Given the description of an element on the screen output the (x, y) to click on. 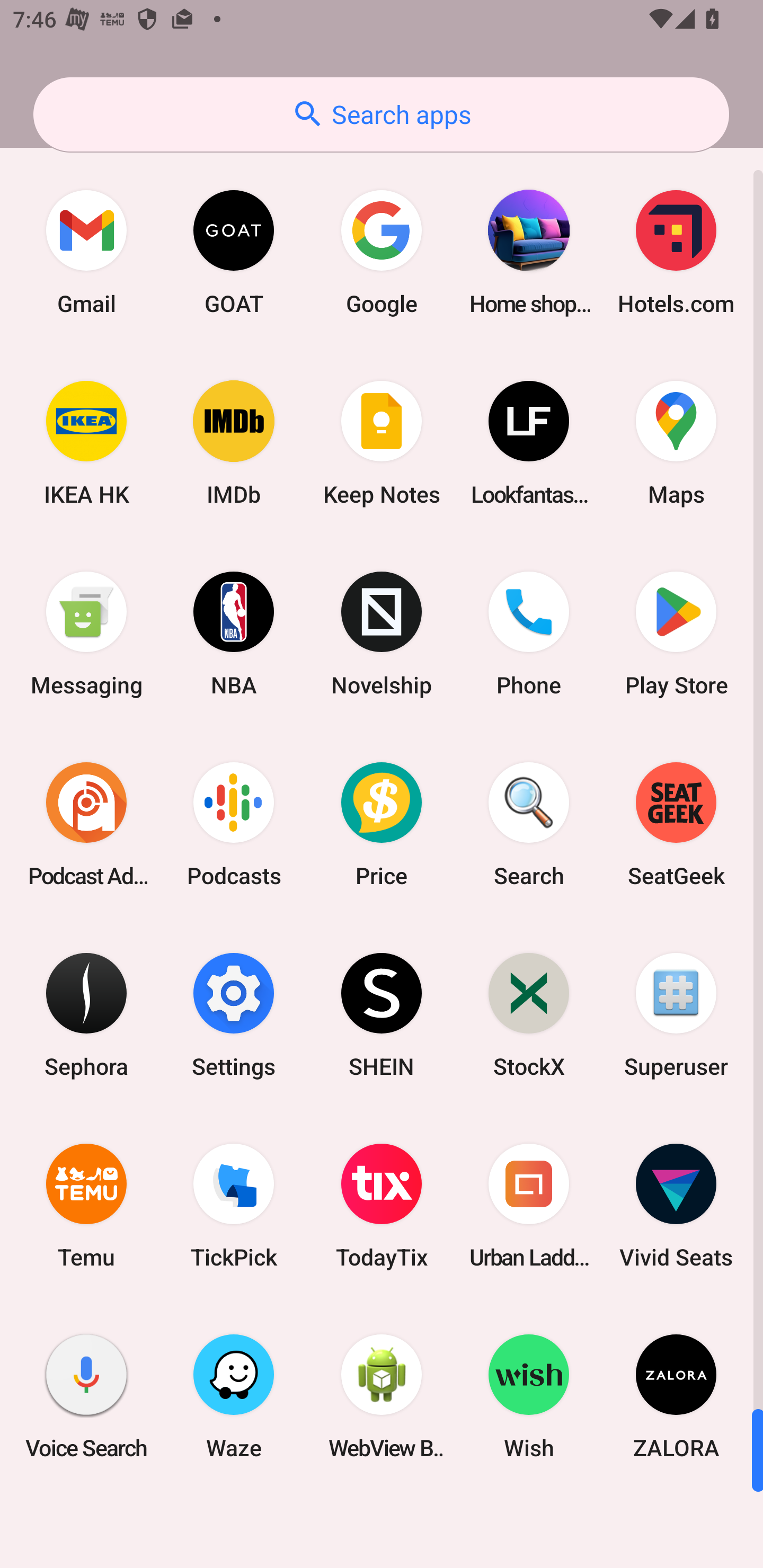
  Search apps (381, 114)
Gmail (86, 252)
GOAT (233, 252)
Google (381, 252)
Home shopping (528, 252)
Hotels.com (676, 252)
IKEA HK (86, 442)
IMDb (233, 442)
Keep Notes (381, 442)
Lookfantastic (528, 442)
Maps (676, 442)
Messaging (86, 633)
NBA (233, 633)
Novelship (381, 633)
Phone (528, 633)
Play Store (676, 633)
Podcast Addict (86, 823)
Podcasts (233, 823)
Price (381, 823)
Search (528, 823)
SeatGeek (676, 823)
Sephora (86, 1014)
Settings (233, 1014)
SHEIN (381, 1014)
StockX (528, 1014)
Superuser (676, 1014)
Temu (86, 1205)
TickPick (233, 1205)
TodayTix (381, 1205)
Urban Ladder (528, 1205)
Vivid Seats (676, 1205)
Voice Search (86, 1396)
Waze (233, 1396)
WebView Browser Tester (381, 1396)
Wish (528, 1396)
ZALORA (676, 1396)
